Given the description of an element on the screen output the (x, y) to click on. 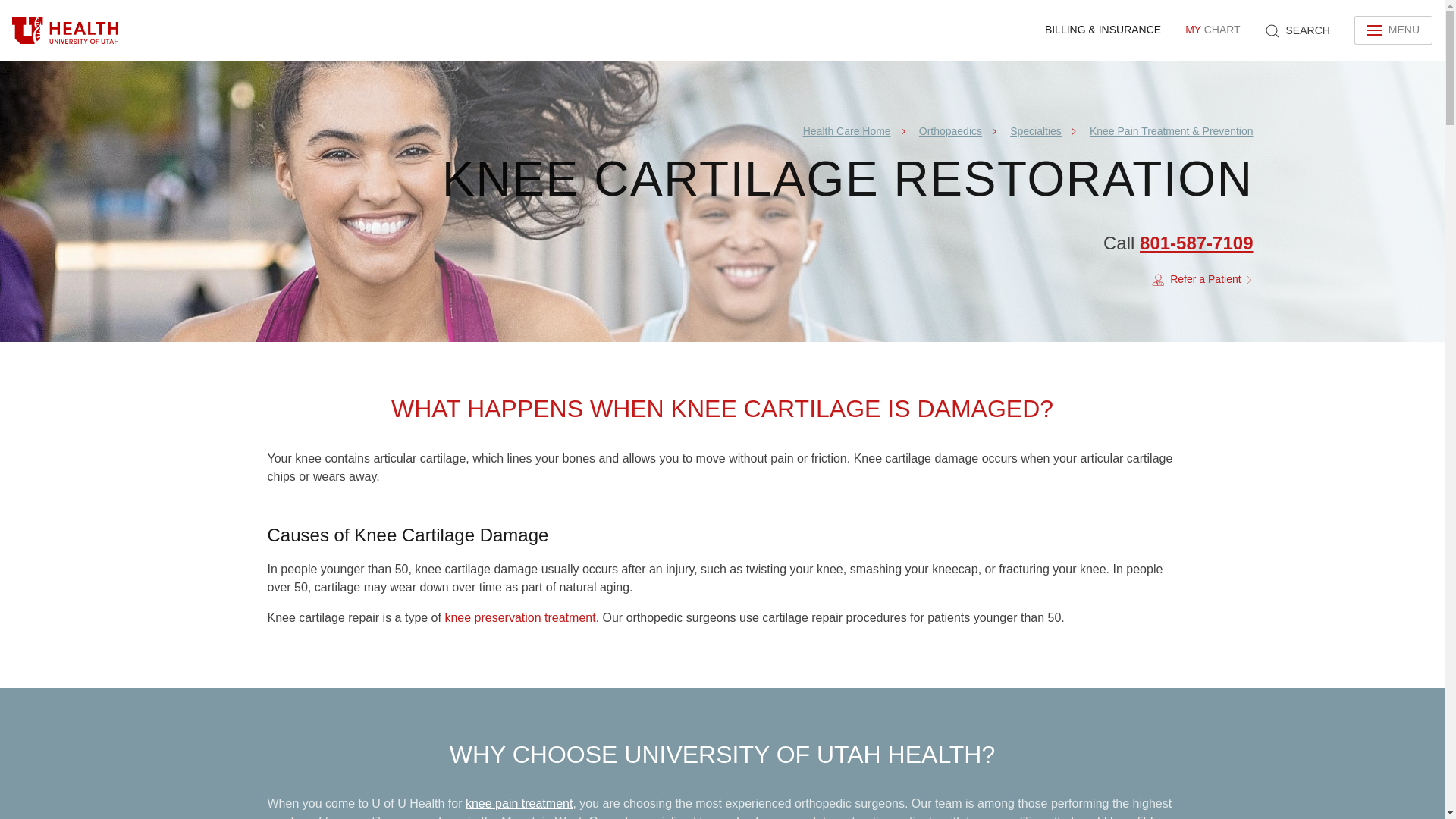
Knee Preservation (519, 617)
University of Utah Health logo (65, 30)
knee preservation treatment (1212, 30)
MENU (519, 617)
Skip to main content (1393, 30)
Specialties (1202, 279)
Health Care Home (1035, 131)
SEARCH (847, 131)
